Given the description of an element on the screen output the (x, y) to click on. 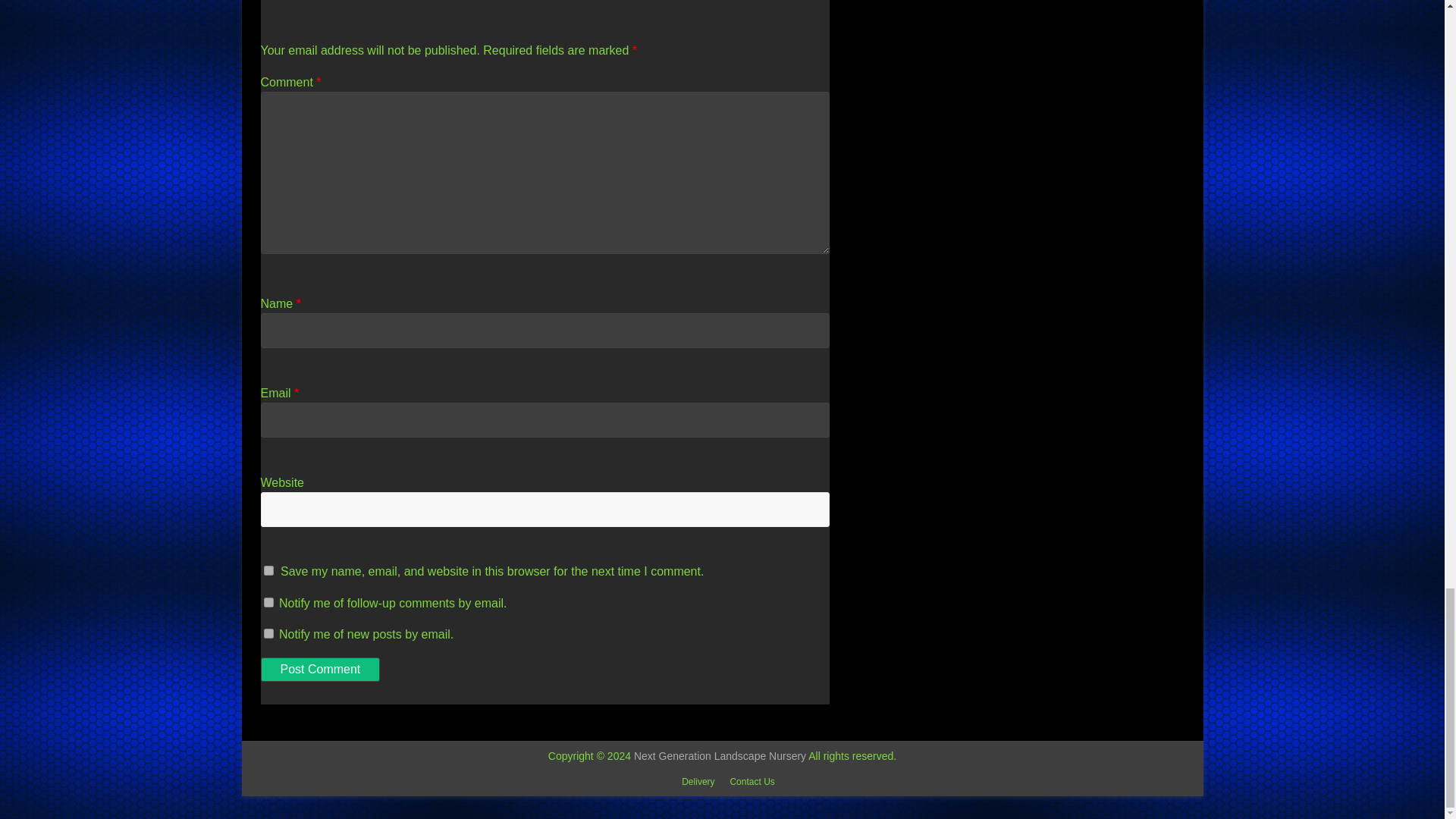
Next Generation Landscape Nursery (719, 756)
subscribe (268, 633)
Post Comment (320, 669)
subscribe (268, 602)
Post Comment (320, 669)
yes (268, 570)
